Given the description of an element on the screen output the (x, y) to click on. 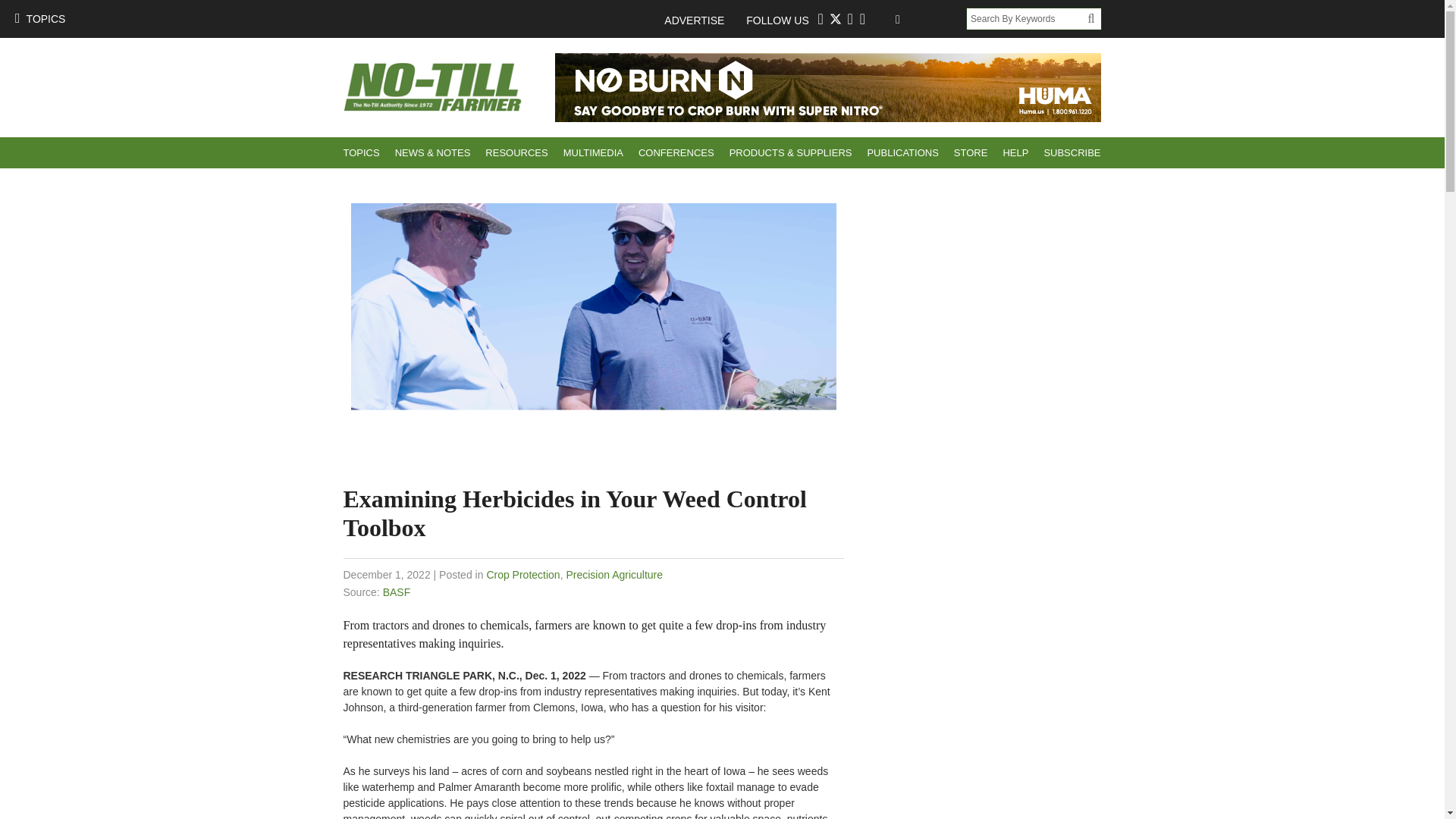
Huma (828, 87)
TOPICS (39, 18)
TOPICS (360, 152)
Search By Keywords (1026, 18)
ADVERTISE (701, 20)
Search By Keywords (1026, 18)
